Given the description of an element on the screen output the (x, y) to click on. 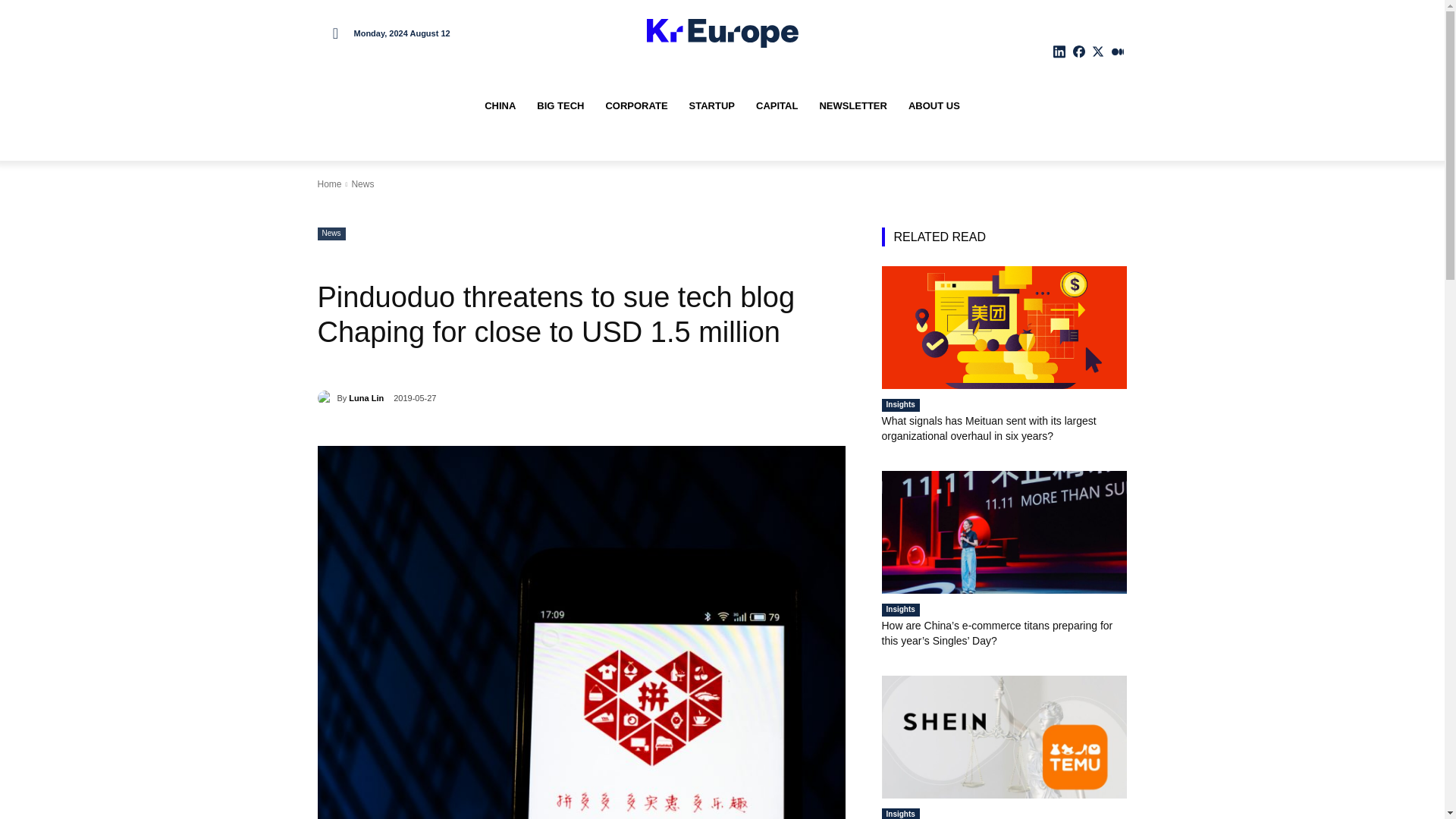
Home (328, 184)
ABOUT US (934, 105)
CHINA (499, 105)
News (362, 184)
View all posts in News (362, 184)
Luna Lin (326, 397)
CORPORATE (636, 105)
NEWSLETTER (853, 105)
BIG TECH (559, 105)
